Given the description of an element on the screen output the (x, y) to click on. 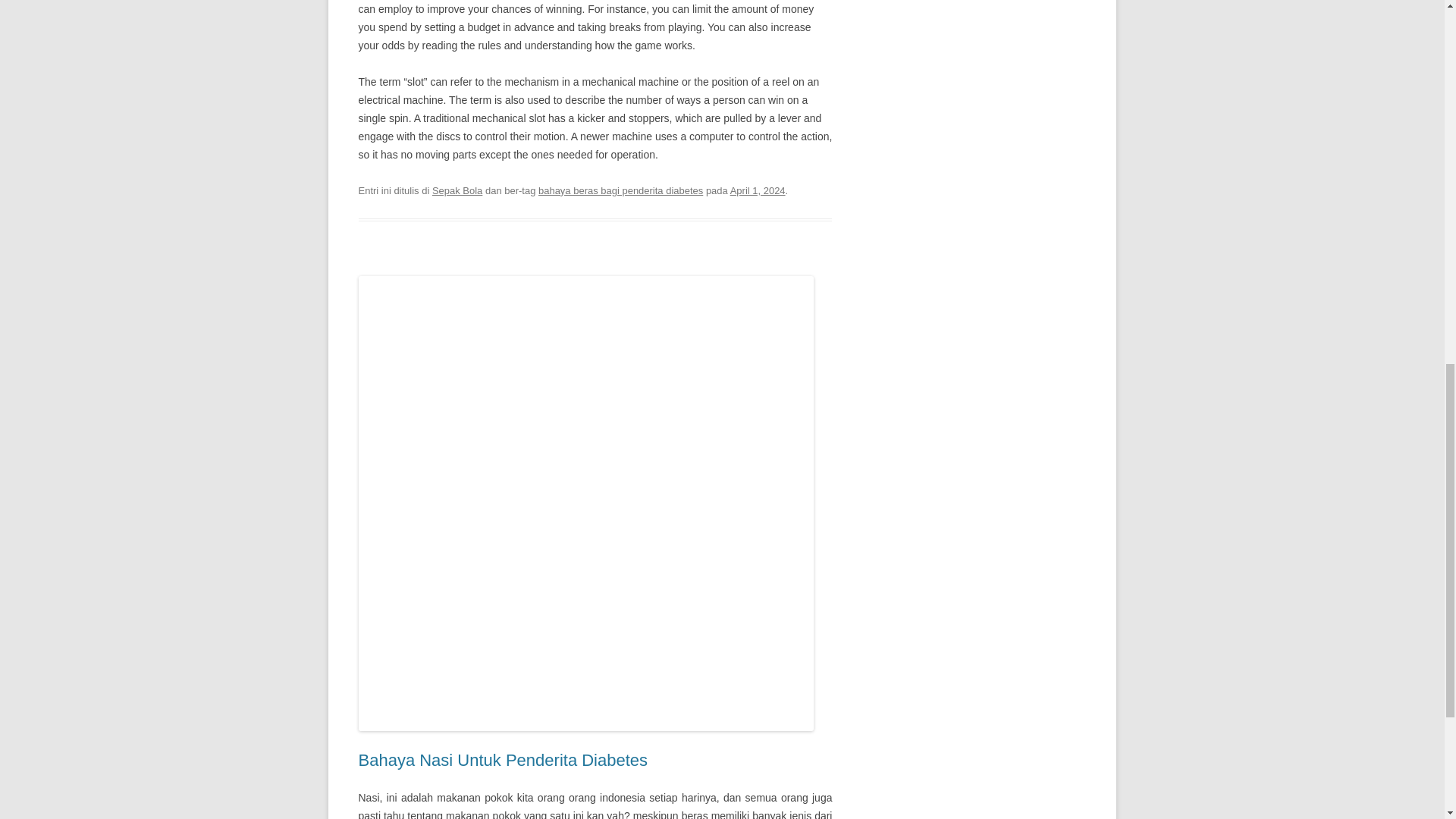
April 1, 2024 (758, 190)
Bahaya Nasi Untuk Penderita Diabetes (502, 760)
Sepak Bola (456, 190)
bahaya beras bagi penderita diabetes (620, 190)
3:20 am (758, 190)
